Given the description of an element on the screen output the (x, y) to click on. 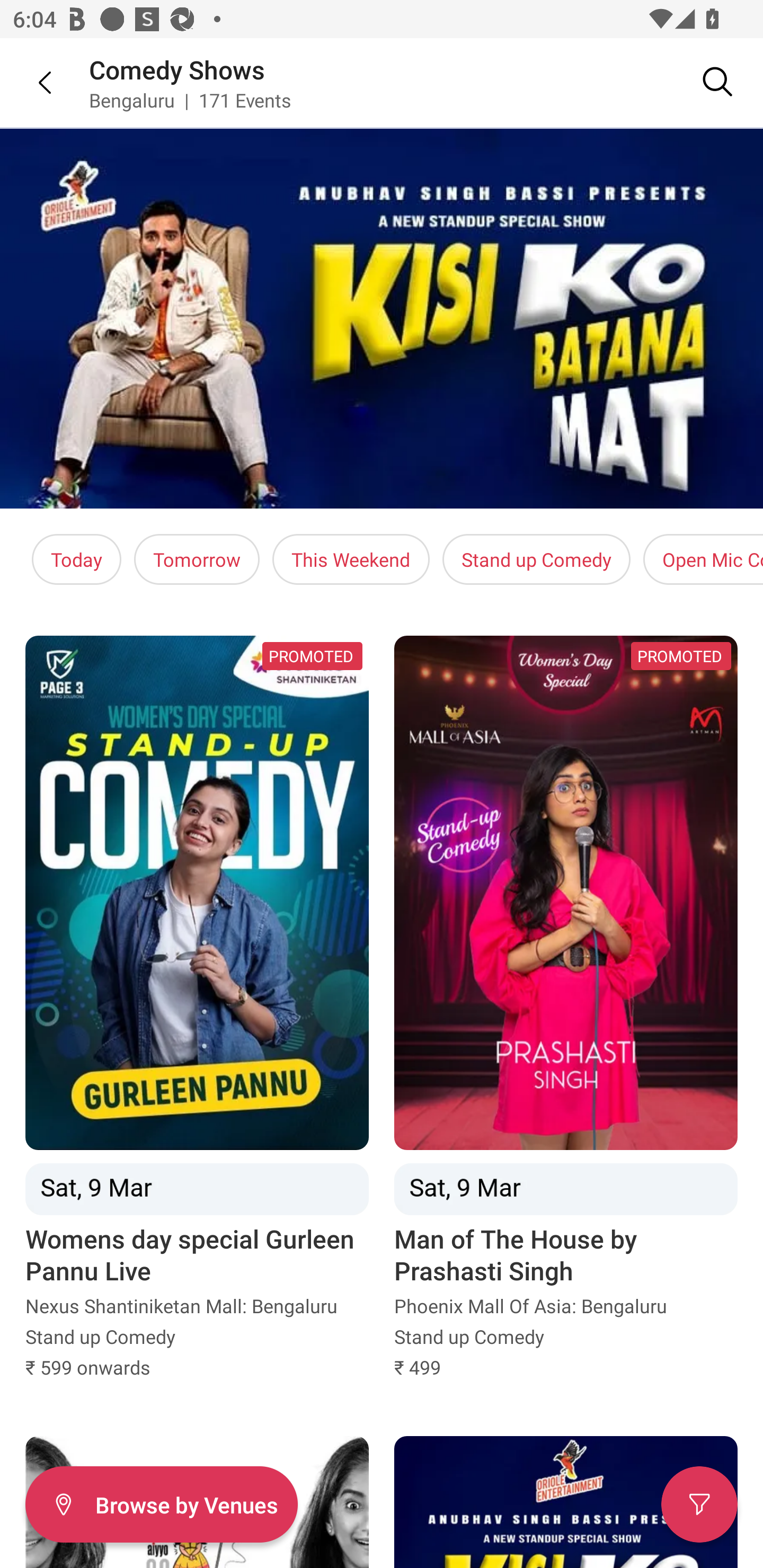
Back (31, 82)
Comedy Shows (176, 68)
Bengaluru  |  171 Events (190, 99)
Today (76, 559)
Tomorrow (196, 559)
This Weekend (350, 559)
Stand up Comedy (536, 559)
Filter Browse by Venues (161, 1504)
Filter (699, 1504)
